Given the description of an element on the screen output the (x, y) to click on. 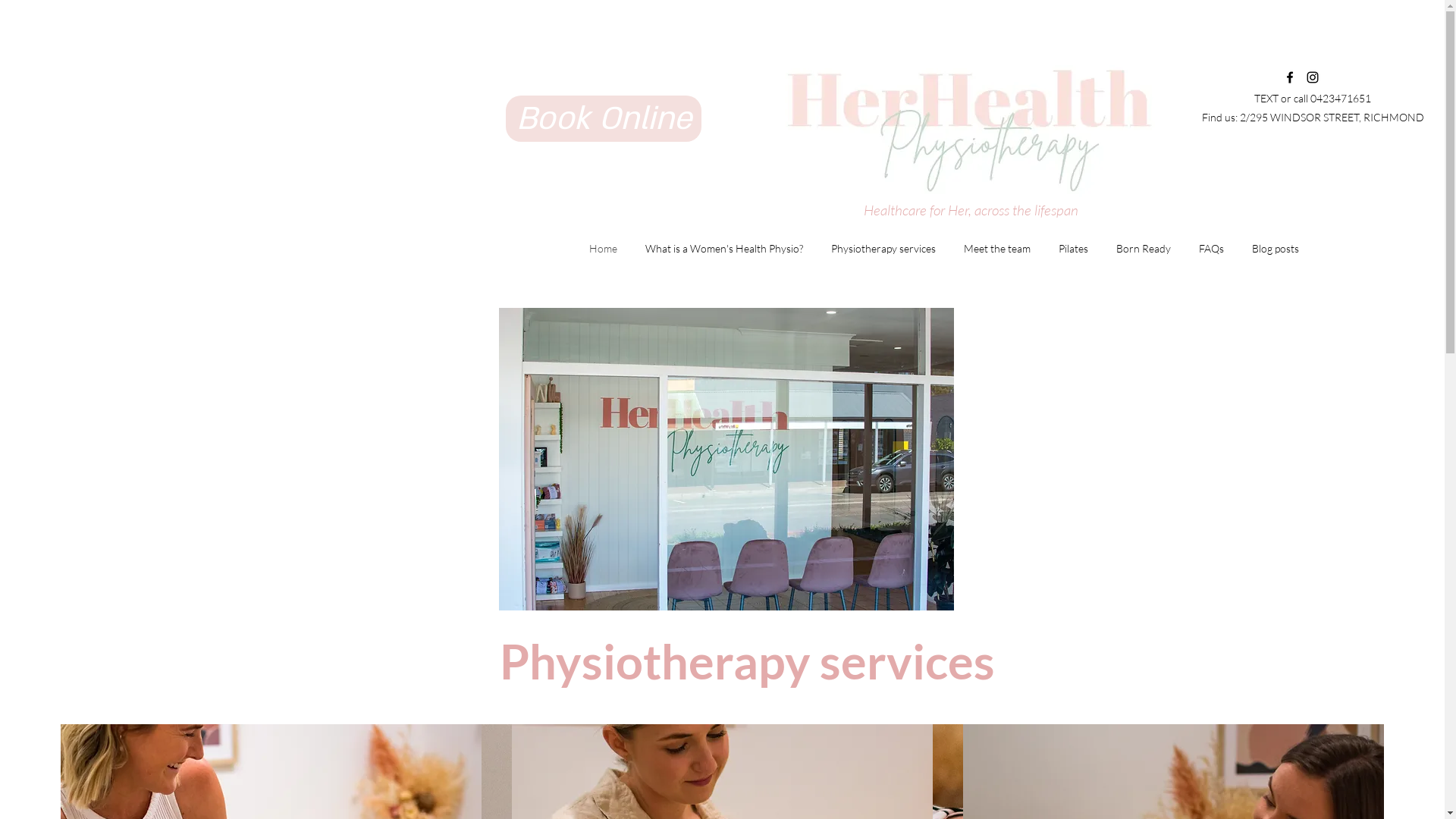
Pilates Element type: text (1072, 248)
Born Ready Element type: text (1142, 248)
FAQs Element type: text (1210, 248)
Home Element type: text (602, 248)
IMG_1898.jpg Element type: hover (959, 123)
What is a Women's Health Physio? Element type: text (723, 248)
Physiotherapy services Element type: text (882, 248)
IMG_7006.JPG Element type: hover (725, 458)
Book Online Element type: text (603, 118)
Meet the team Element type: text (996, 248)
